Given the description of an element on the screen output the (x, y) to click on. 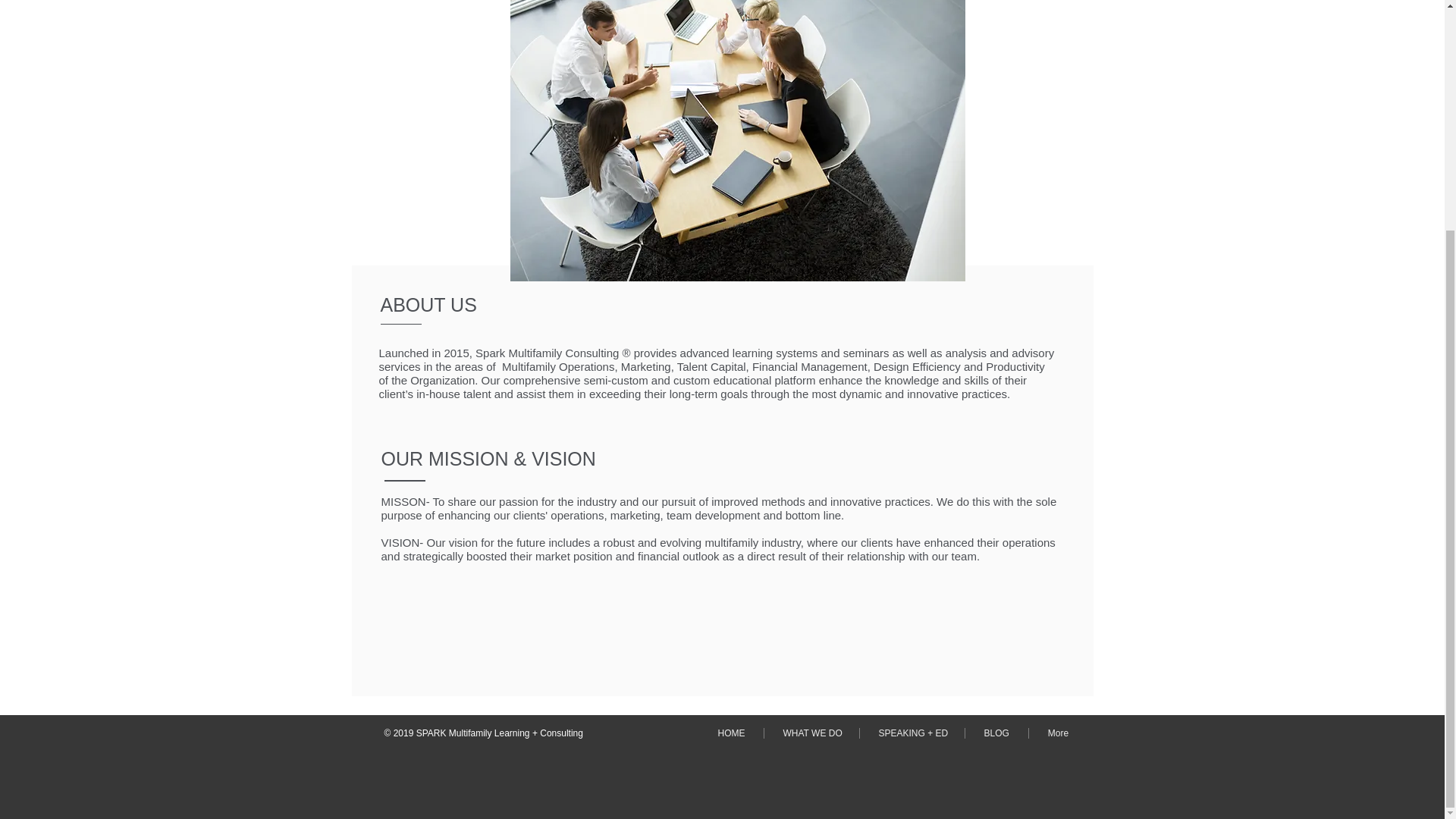
BLOG (995, 733)
WHAT WE DO (811, 733)
HOME (730, 733)
